Given the description of an element on the screen output the (x, y) to click on. 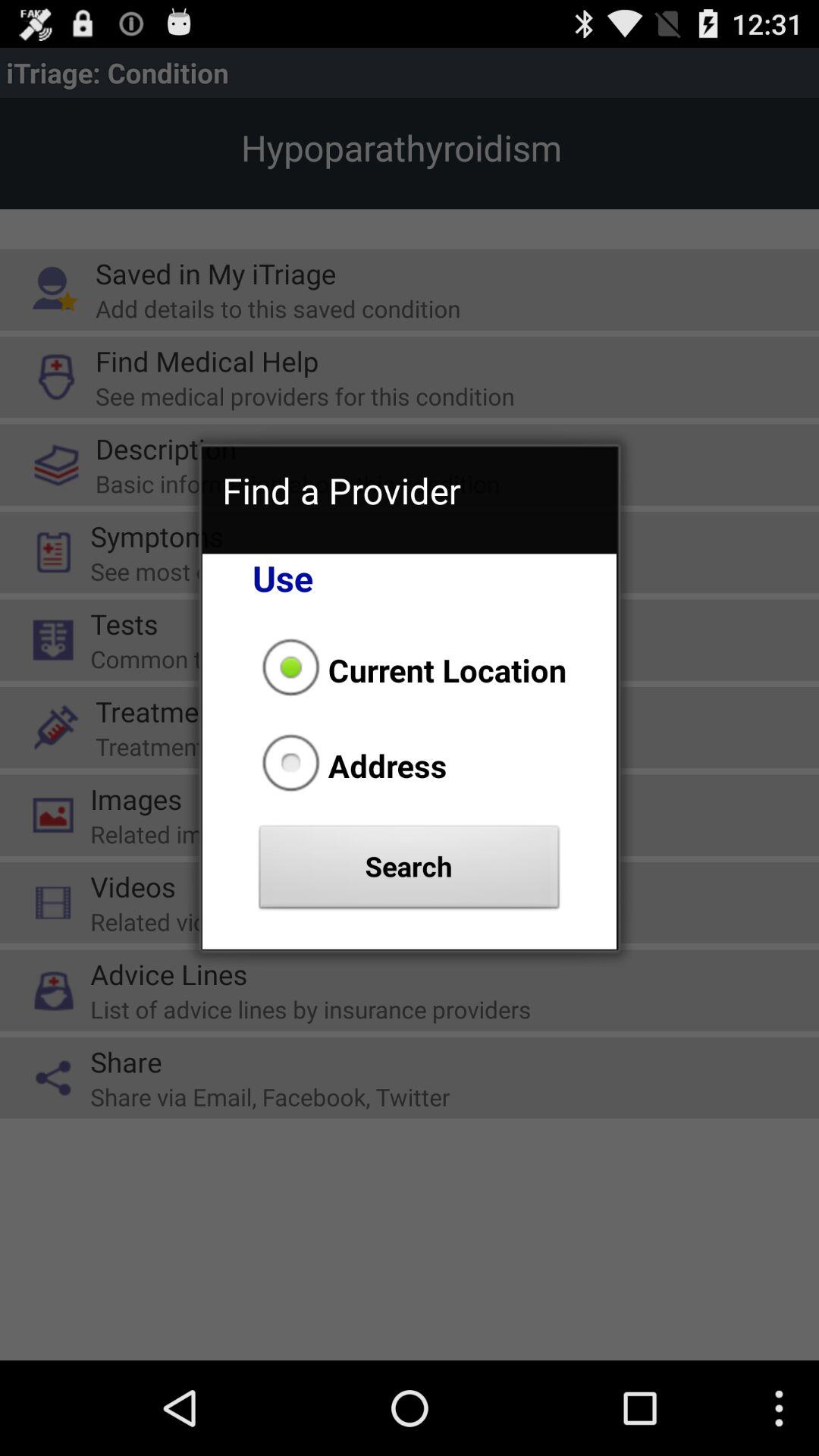
jump to the address icon (349, 765)
